Given the description of an element on the screen output the (x, y) to click on. 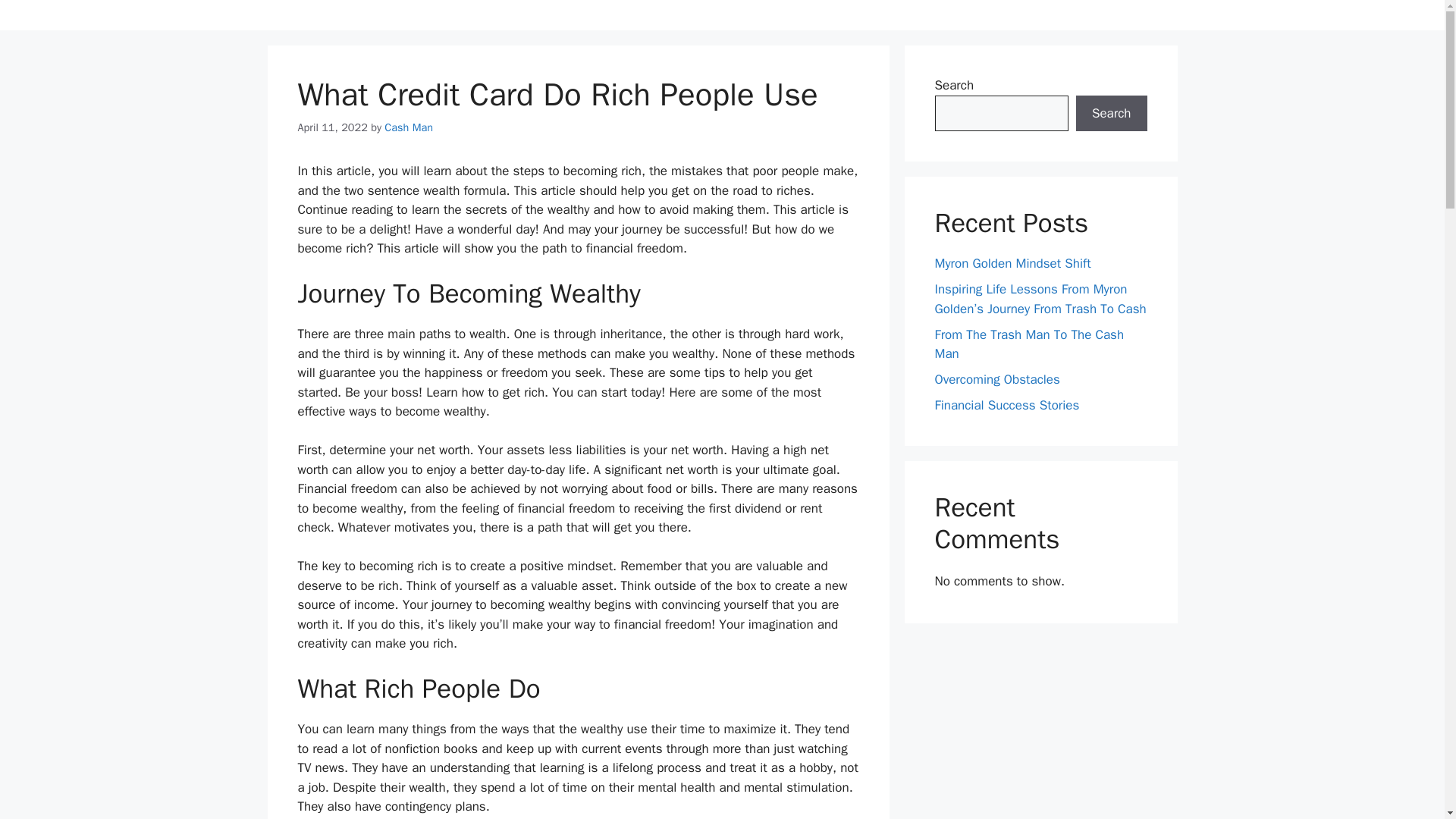
Cash Man (408, 127)
Myron Golden Mindset Shift (1012, 263)
Search (1111, 113)
Financial Success Stories (1006, 405)
View all posts by Cash Man (408, 127)
From The Trash Man To The Cash Man (1029, 343)
Overcoming Obstacles (996, 379)
